Given the description of an element on the screen output the (x, y) to click on. 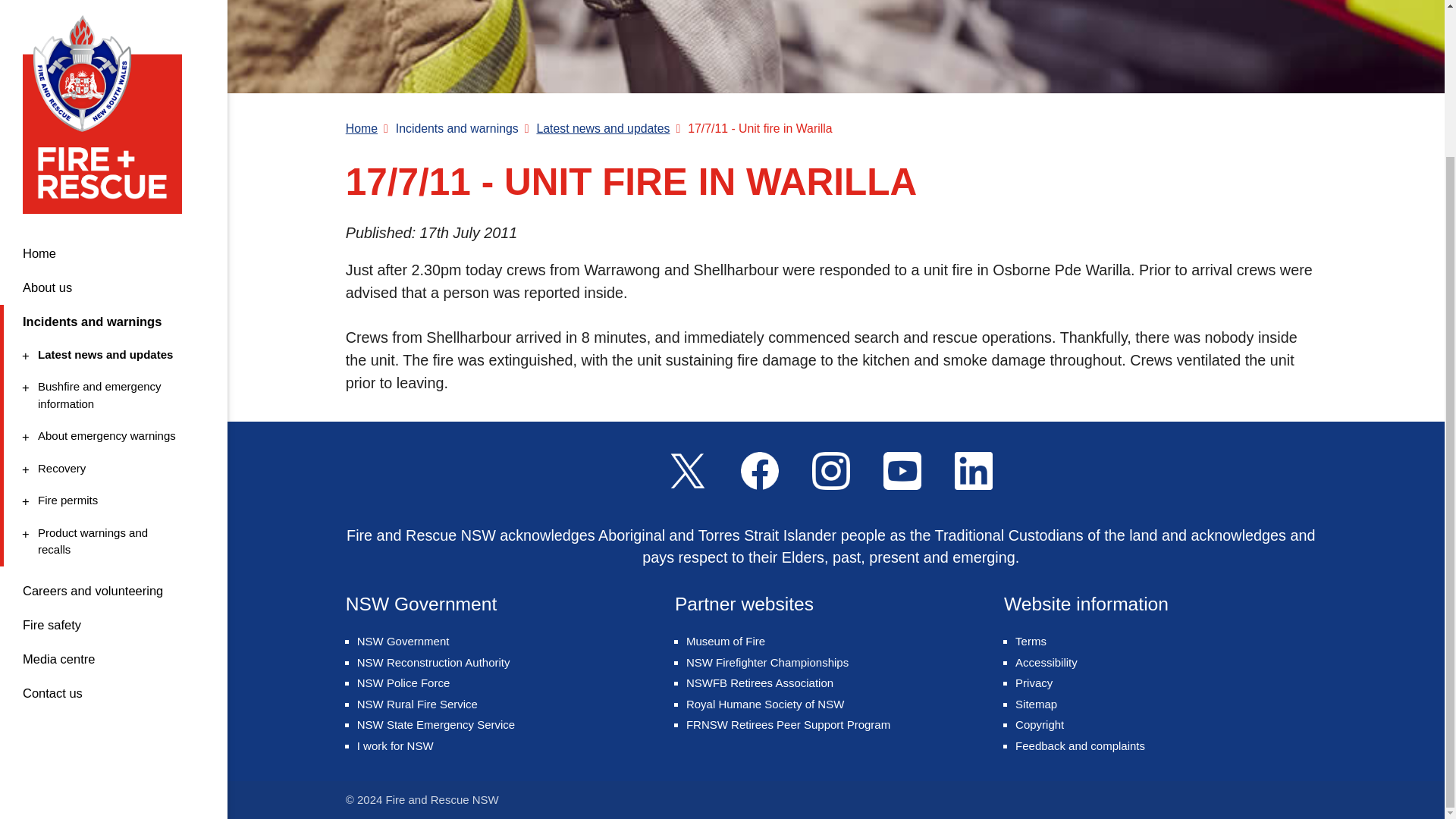
About emergency warnings (111, 252)
Fire permits (111, 358)
Fire and Rescue NSW (111, 316)
Latest news and updates (107, 15)
Home (111, 171)
Recovery (113, 69)
